Given the description of an element on the screen output the (x, y) to click on. 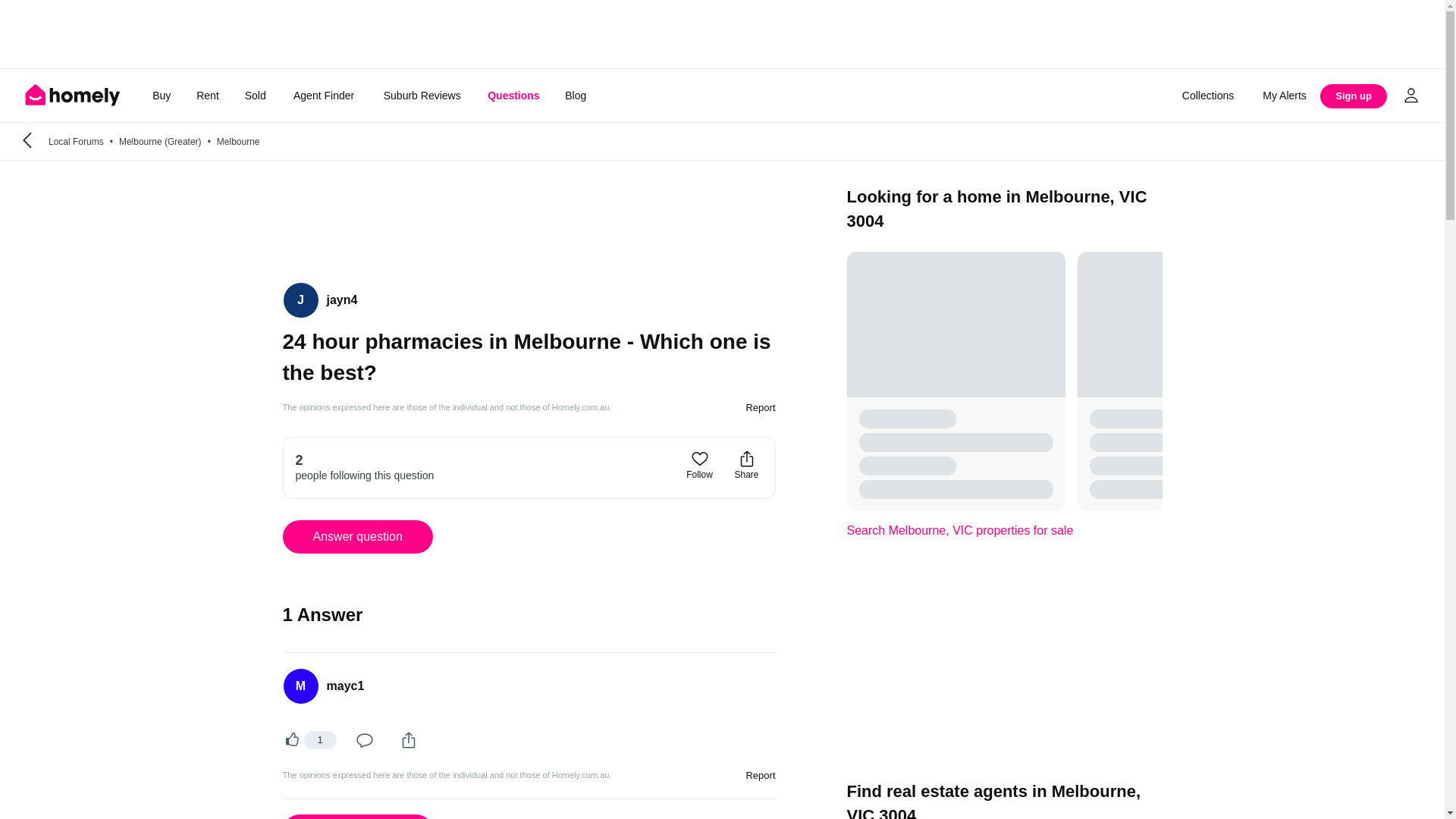
Collections (1207, 94)
Blog (575, 94)
My Alerts (1284, 94)
Agent Finder (323, 94)
Answer question (357, 816)
J (300, 299)
Suburb Reviews (422, 94)
Answer question (357, 536)
Questions (513, 94)
Buy (161, 94)
jayn4 (300, 299)
jayn4 (341, 300)
Questions (513, 94)
mayc1 (345, 685)
M (300, 686)
